Given the description of an element on the screen output the (x, y) to click on. 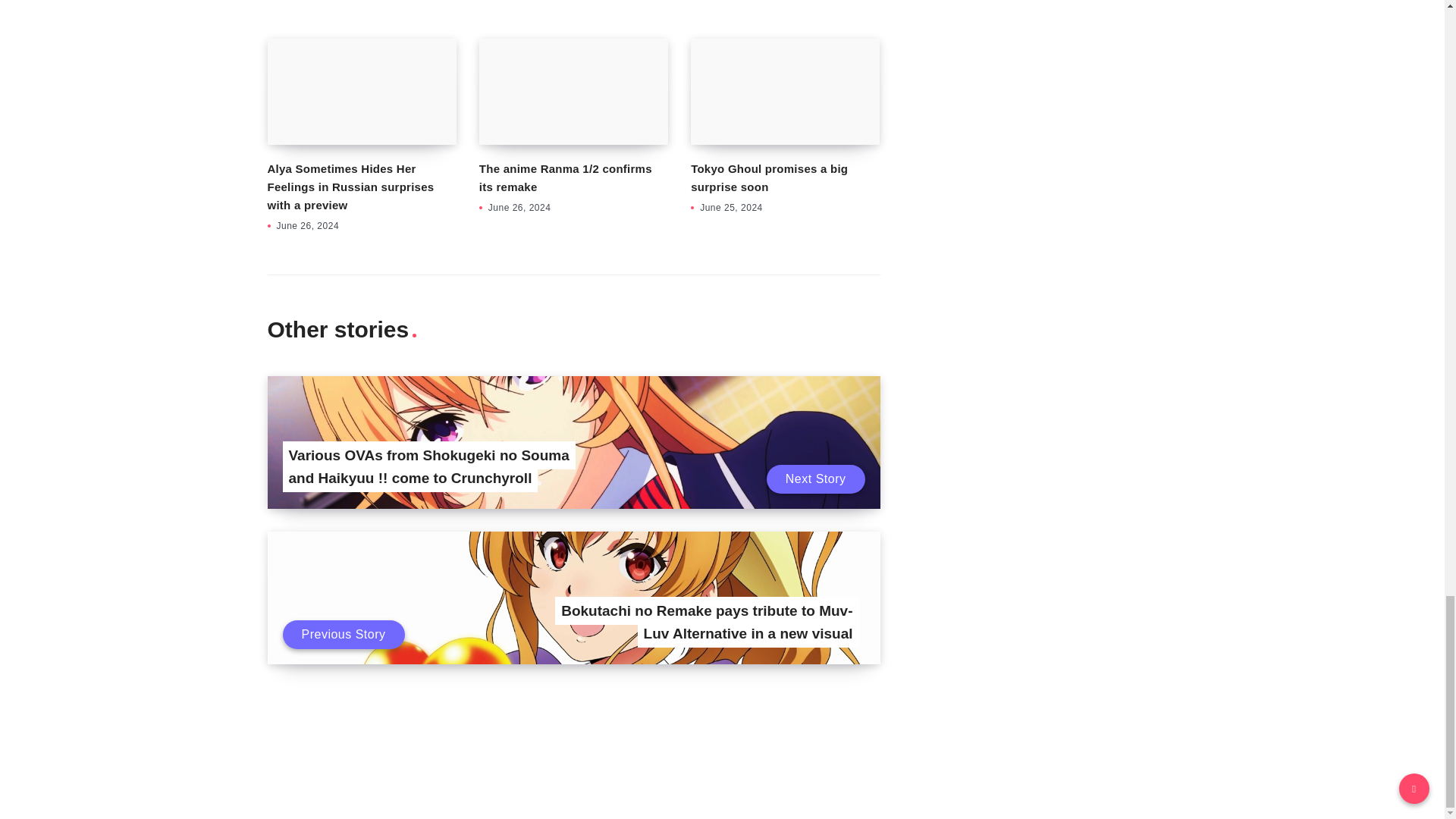
Tokyo Ghoul promises a big surprise soon (784, 91)
